Given the description of an element on the screen output the (x, y) to click on. 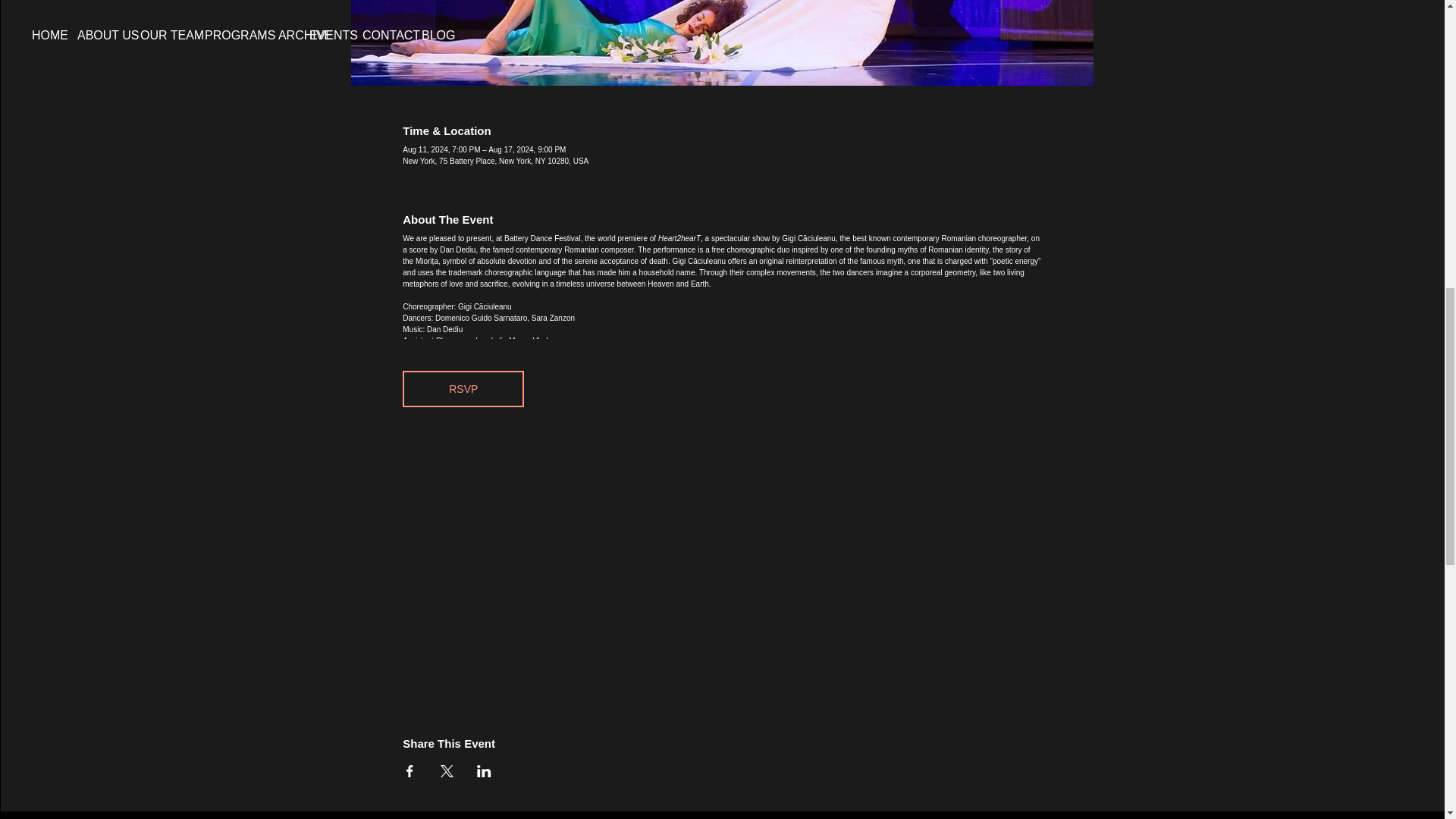
RSVP (463, 389)
